Given the description of an element on the screen output the (x, y) to click on. 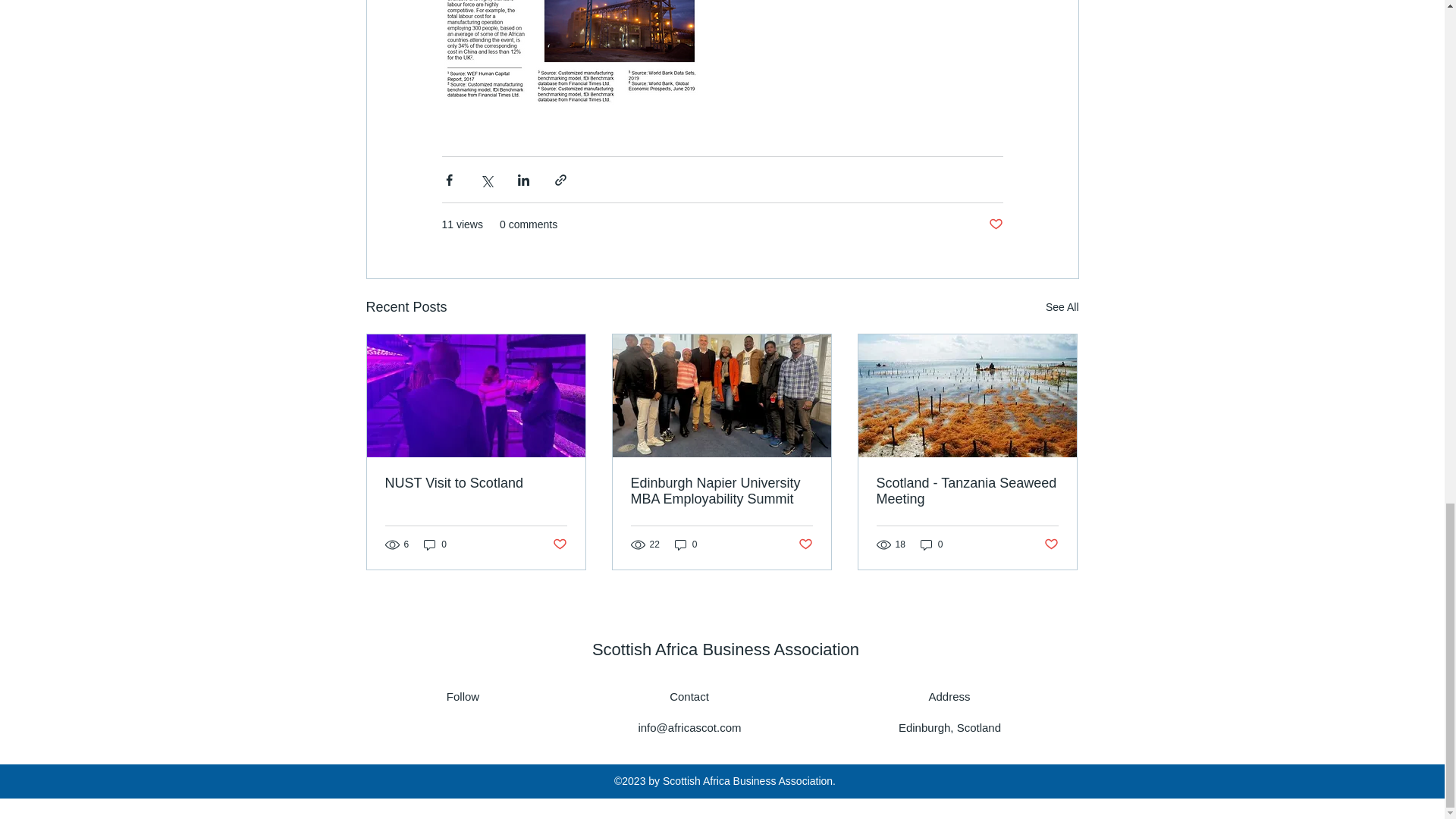
Edinburgh Napier University MBA Employability Summit (721, 490)
Post not marked as liked (558, 544)
NUST Visit to Scotland (476, 483)
0 (435, 544)
Post not marked as liked (995, 224)
0 (685, 544)
Post not marked as liked (804, 544)
See All (1061, 307)
